Given the description of an element on the screen output the (x, y) to click on. 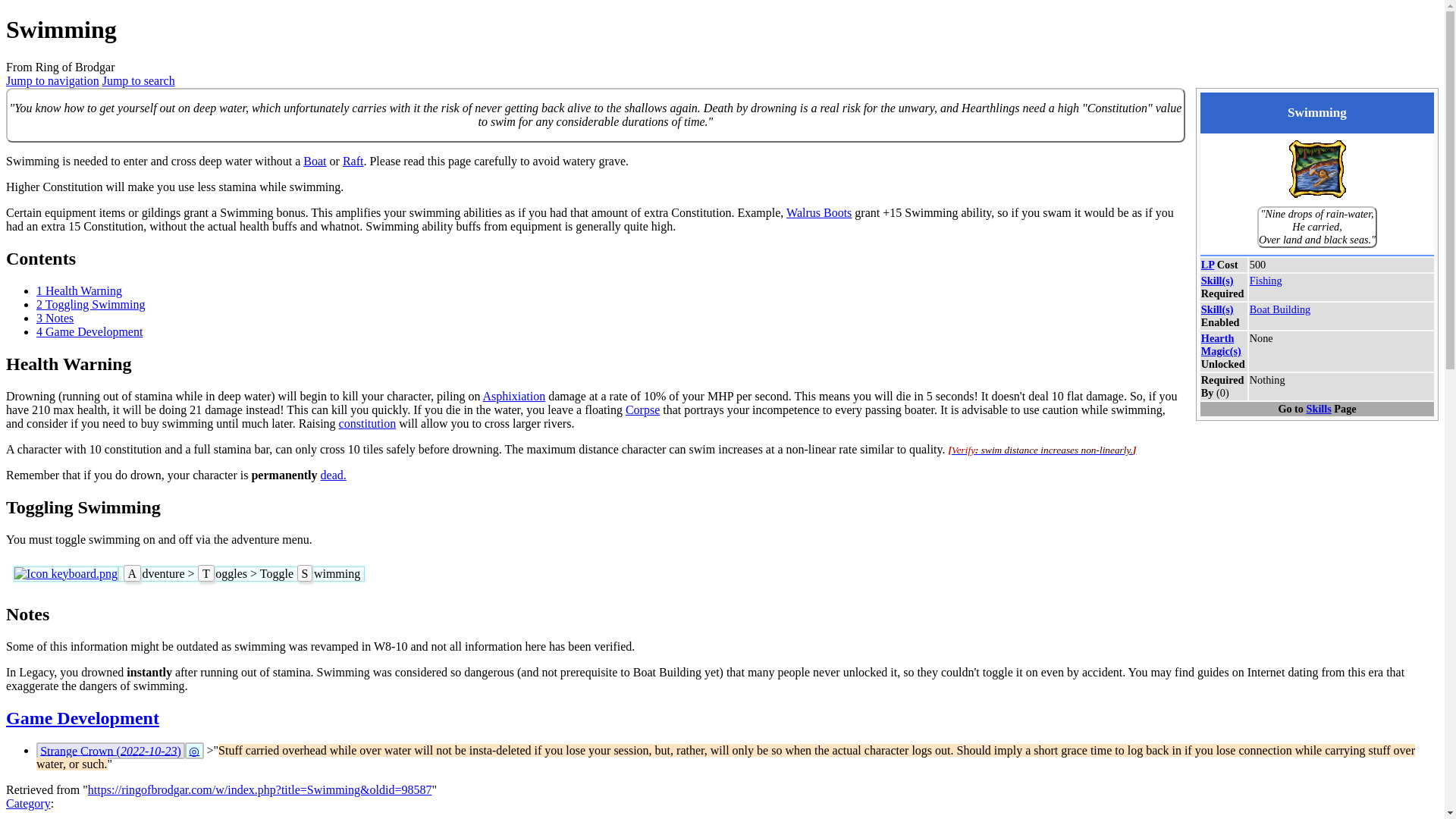
Boat (314, 160)
Hearth Magics (1221, 344)
Skills (1217, 280)
Corpse (642, 409)
Jump to search (137, 80)
Category:Verification Calls - Hafen (1043, 449)
Boat (314, 160)
Game Updates (81, 718)
Death (333, 474)
Raft (353, 160)
